Given the description of an element on the screen output the (x, y) to click on. 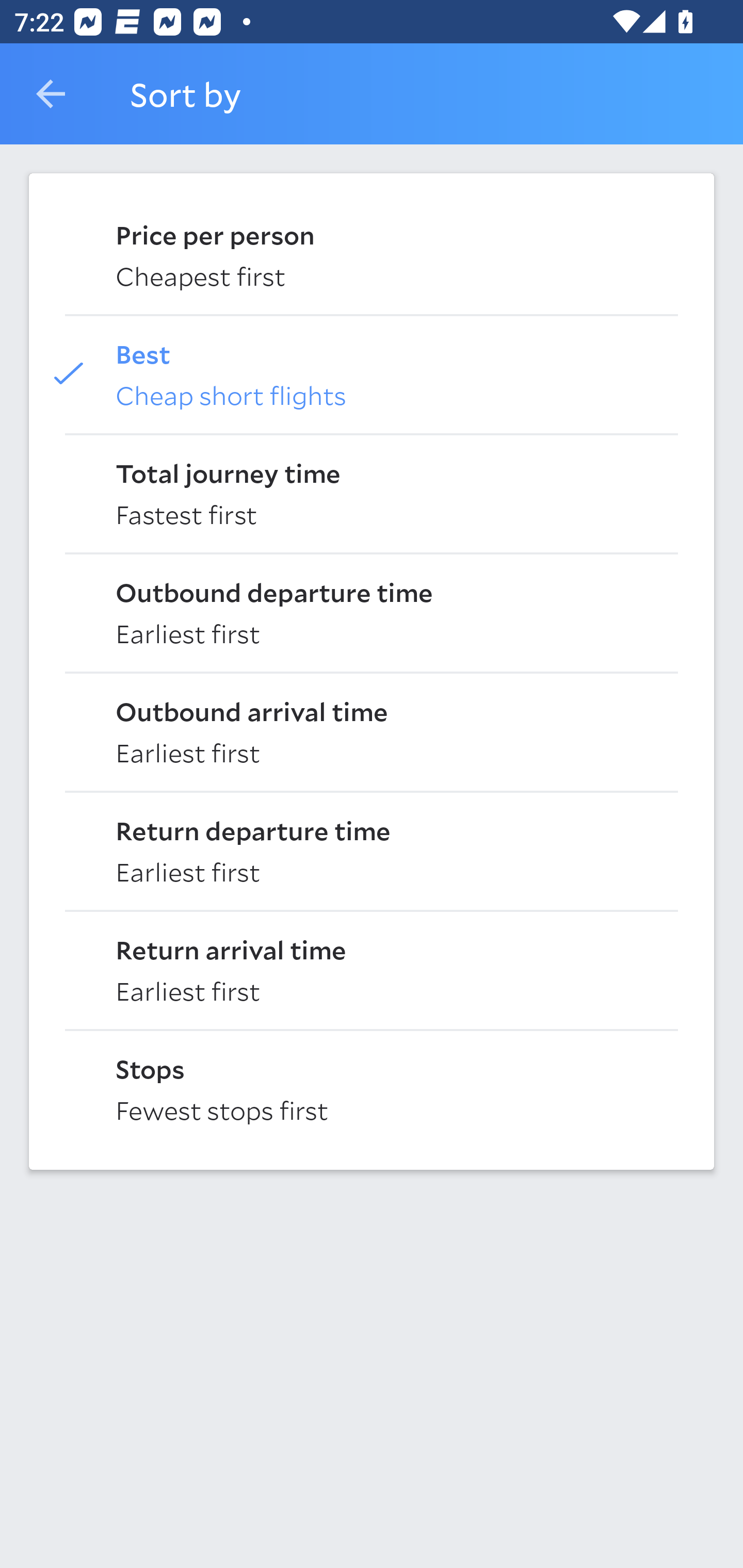
Navigate up (50, 93)
Price per person Cheapest first (371, 253)
Best Cheap short flights (371, 372)
Total journey time Fastest first (371, 491)
Outbound departure time Earliest first (371, 611)
Outbound arrival time Earliest first (371, 730)
Return departure time Earliest first (371, 849)
Return arrival time Earliest first (371, 968)
Stops Fewest stops first (371, 1087)
